Given the description of an element on the screen output the (x, y) to click on. 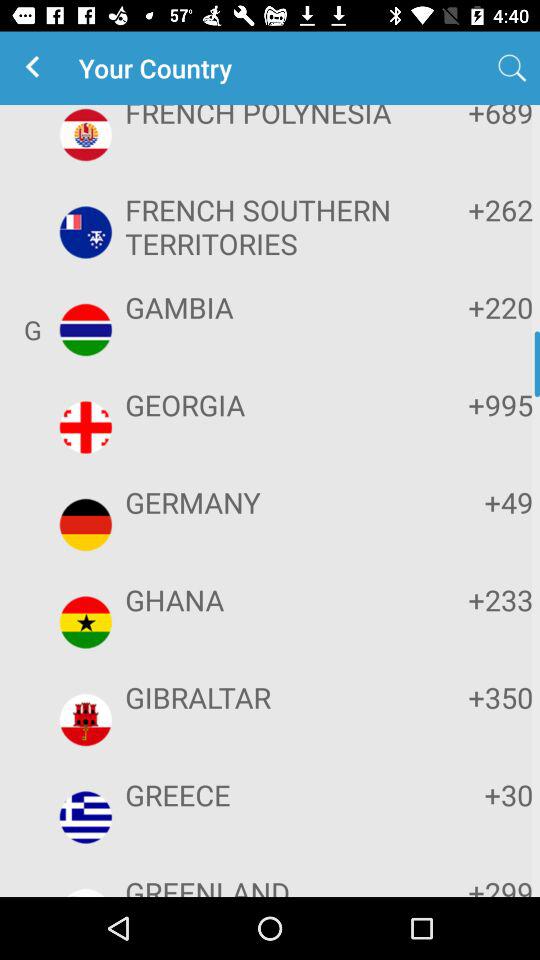
press item below germany app (267, 599)
